Given the description of an element on the screen output the (x, y) to click on. 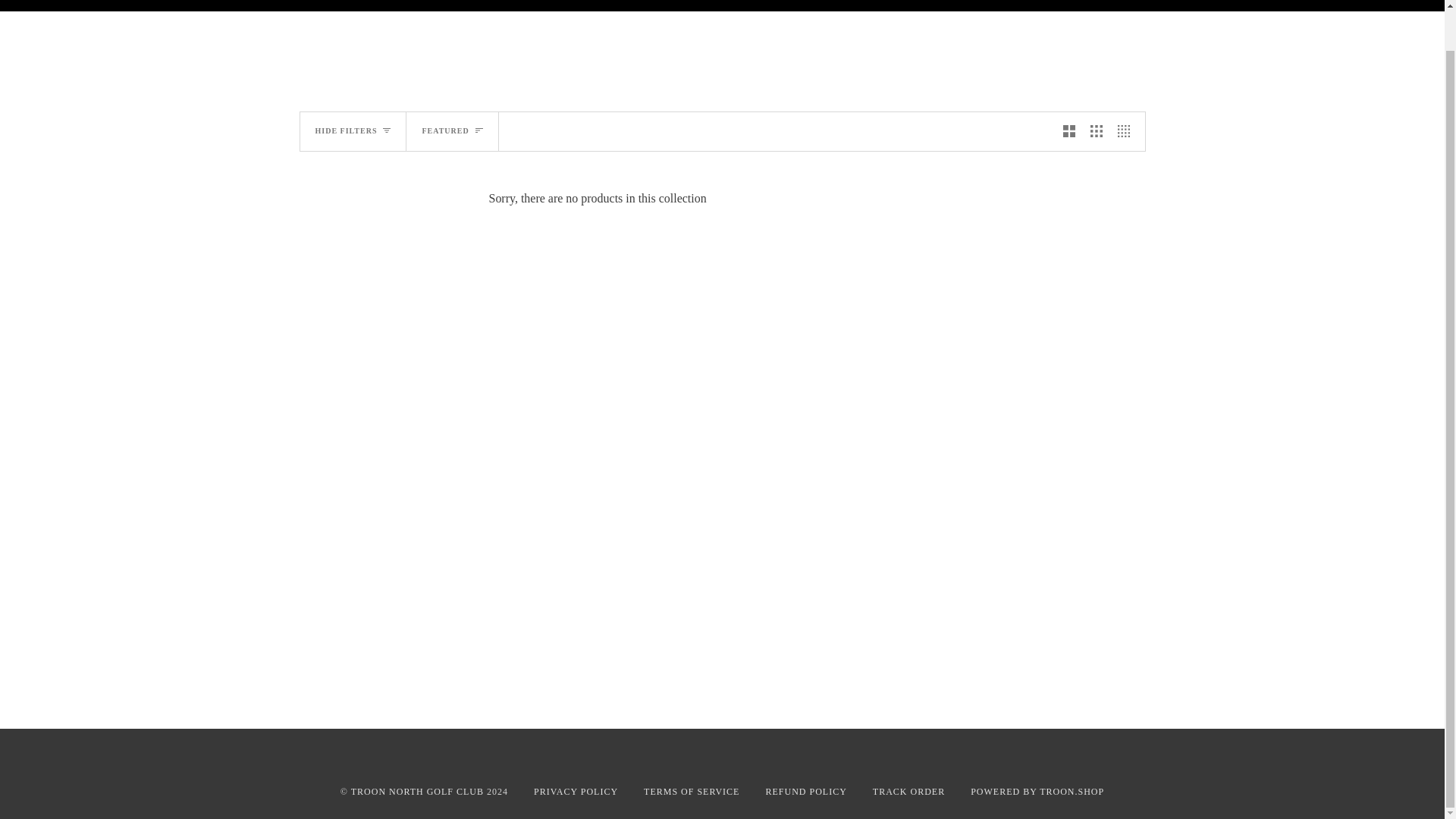
LADIES (676, 5)
KIDS (728, 5)
GIFT CARDS (956, 5)
CART (1131, 5)
MENS (619, 5)
HEADWEAR (792, 5)
FEATURED COLLECTIONS (519, 5)
COOL GIFTS (873, 5)
